Given the description of an element on the screen output the (x, y) to click on. 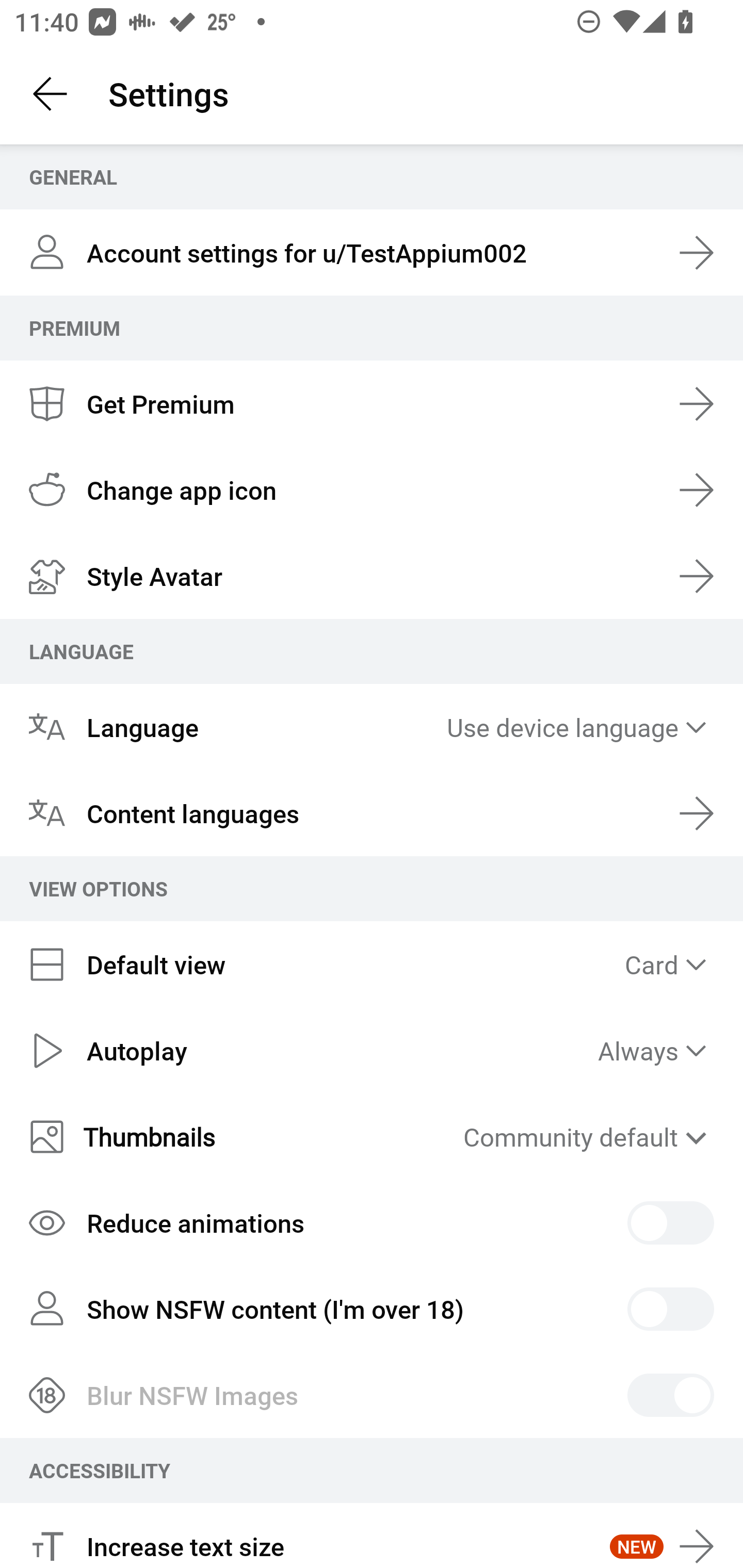
Navigate up (50, 93)
Account settings for u/TestAppium002 (371, 253)
Get Premium (371, 403)
Change app icon (371, 489)
Style Avatar (371, 576)
Language Use device language (371, 726)
Content languages (371, 812)
Default view Card (371, 964)
Autoplay Always (371, 1050)
Thumbnails Community default (371, 1136)
Reduce animations (371, 1222)
Show NSFW content (I'm over 18) (371, 1308)
Blur NSFW Images (371, 1394)
Increase text size NEW (371, 1535)
